Given the description of an element on the screen output the (x, y) to click on. 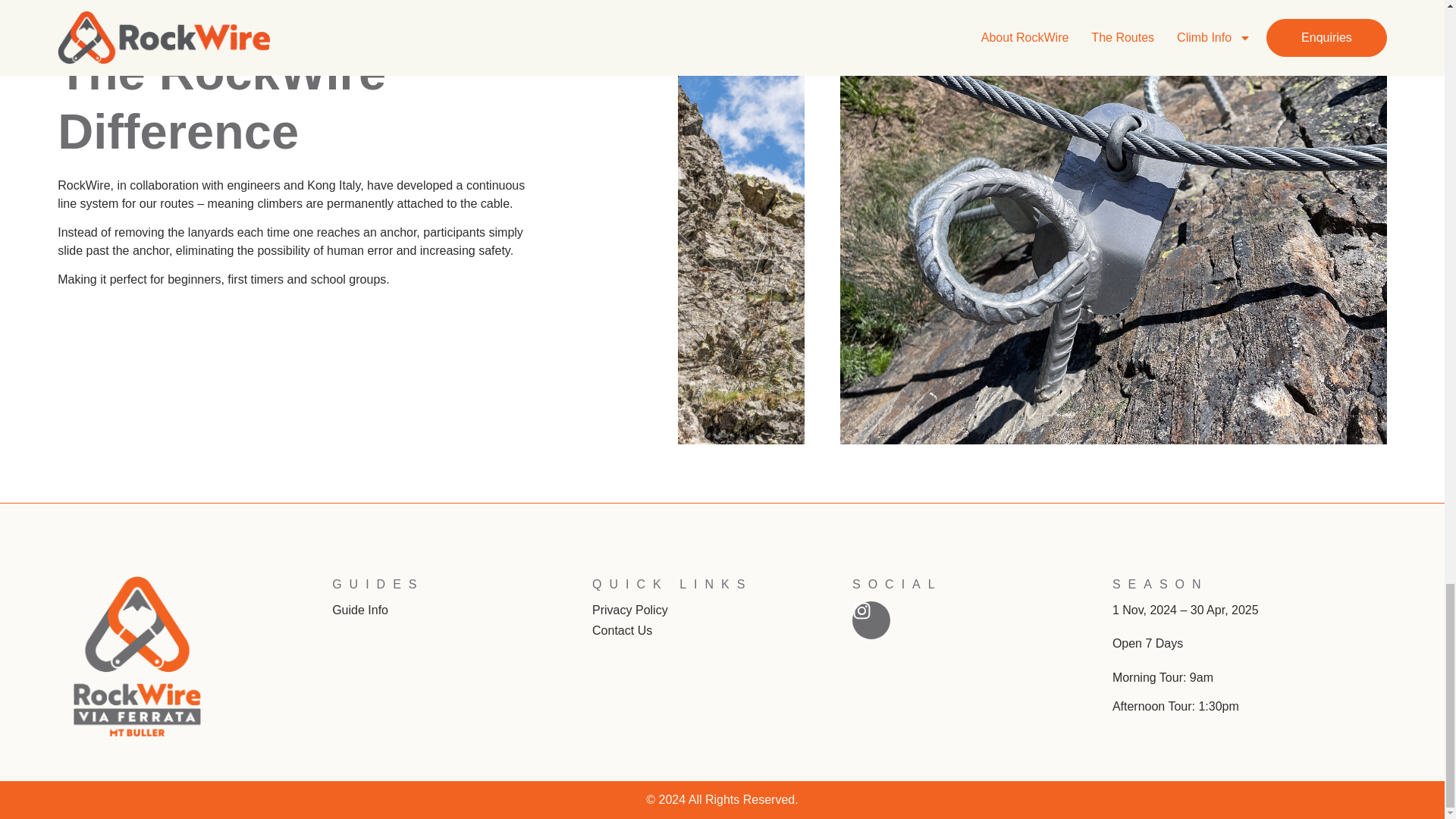
Privacy Policy (721, 610)
Contact Us (721, 630)
Guide Info (359, 609)
